Given the description of an element on the screen output the (x, y) to click on. 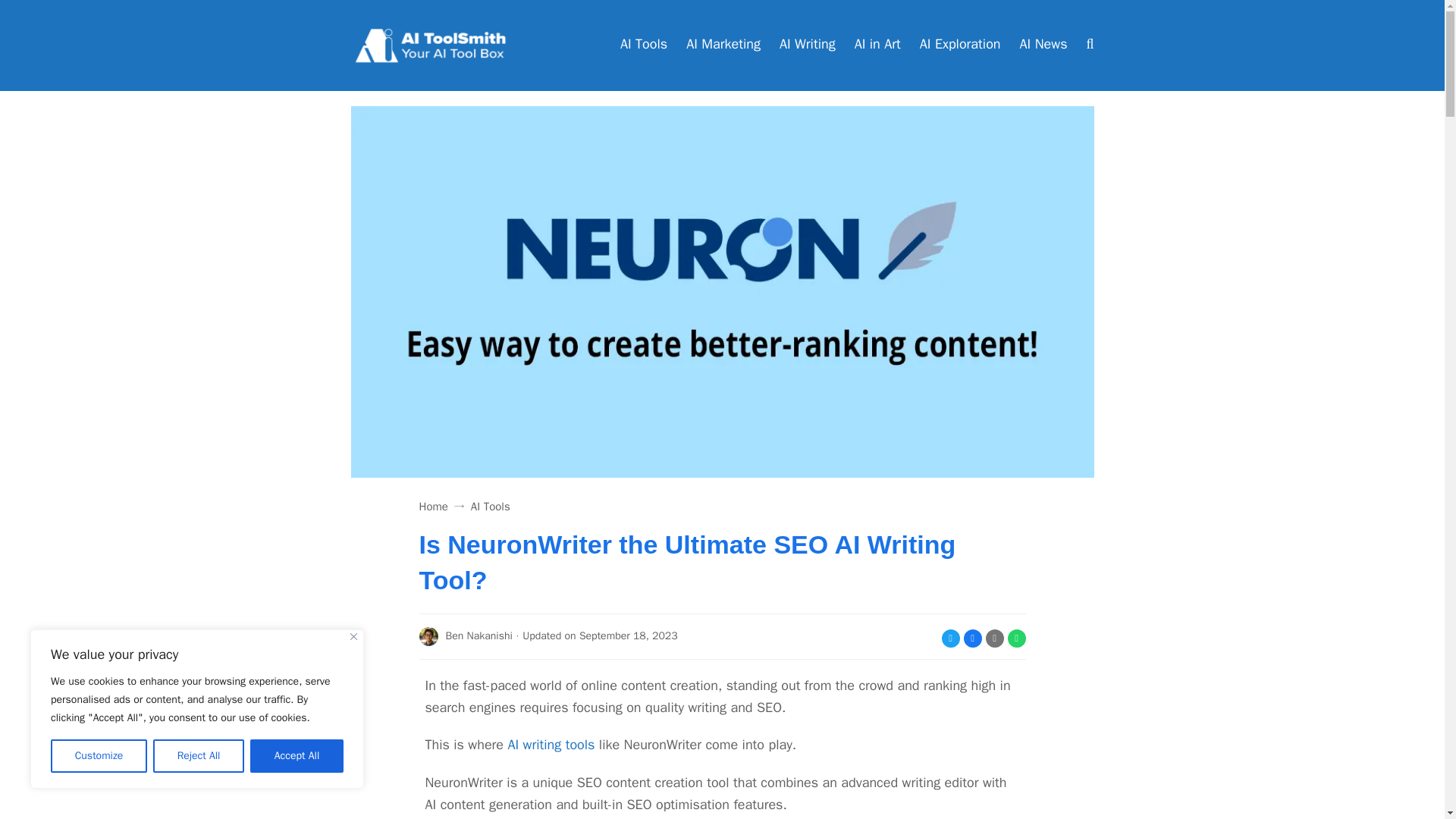
Share on Facebook (972, 638)
Home (432, 506)
AI Tools (643, 45)
AI Exploration (960, 45)
Reject All (198, 756)
AI News (1043, 45)
AI Tools (490, 506)
Share via Email (994, 638)
Ben Nakanishi (465, 636)
Share on Twitter (950, 638)
Customize (98, 756)
Accept All (296, 756)
AI in Art (877, 45)
AI Writing (806, 45)
AI Marketing (722, 45)
